Given the description of an element on the screen output the (x, y) to click on. 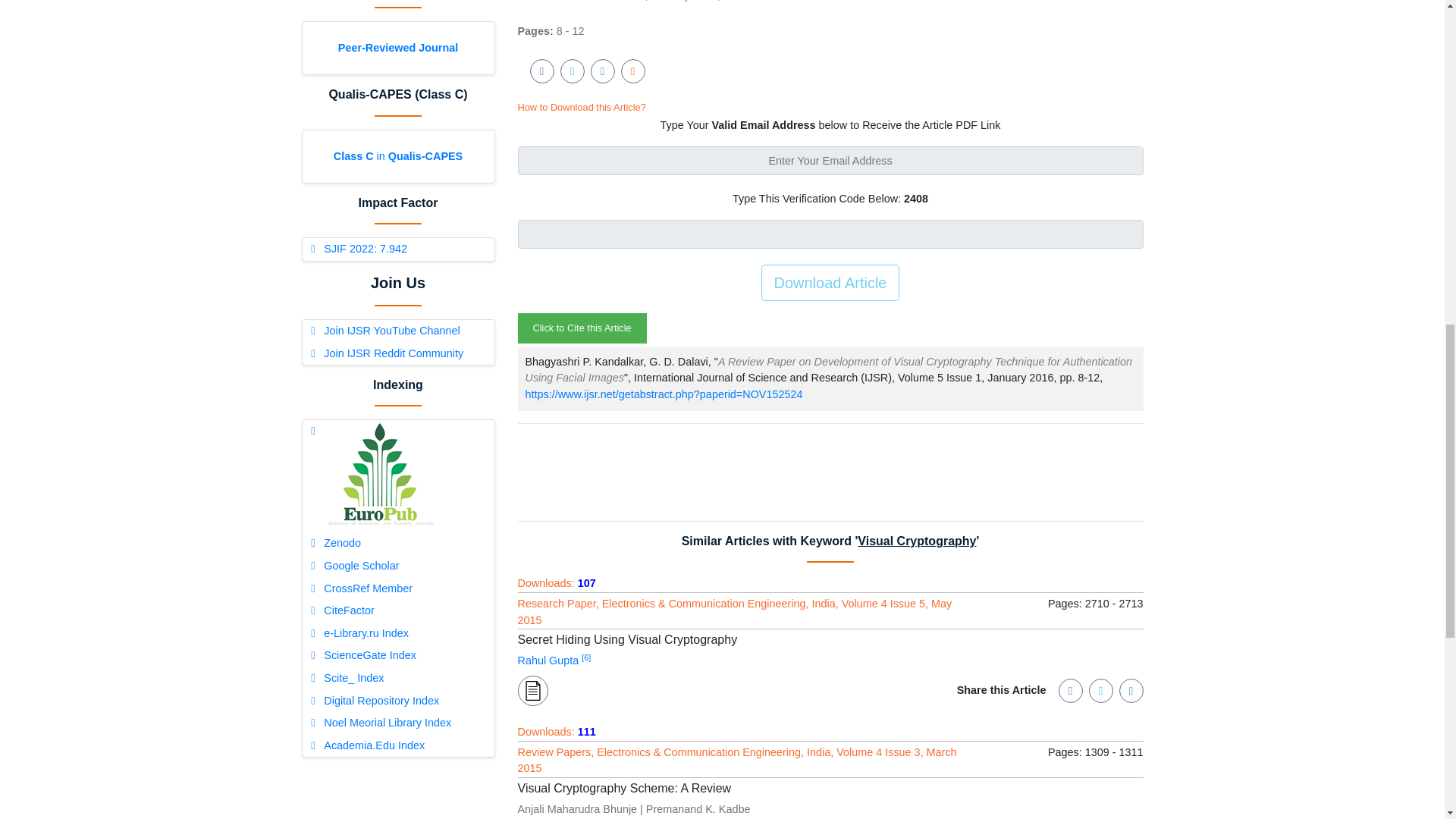
Download Article (830, 282)
